Given the description of an element on the screen output the (x, y) to click on. 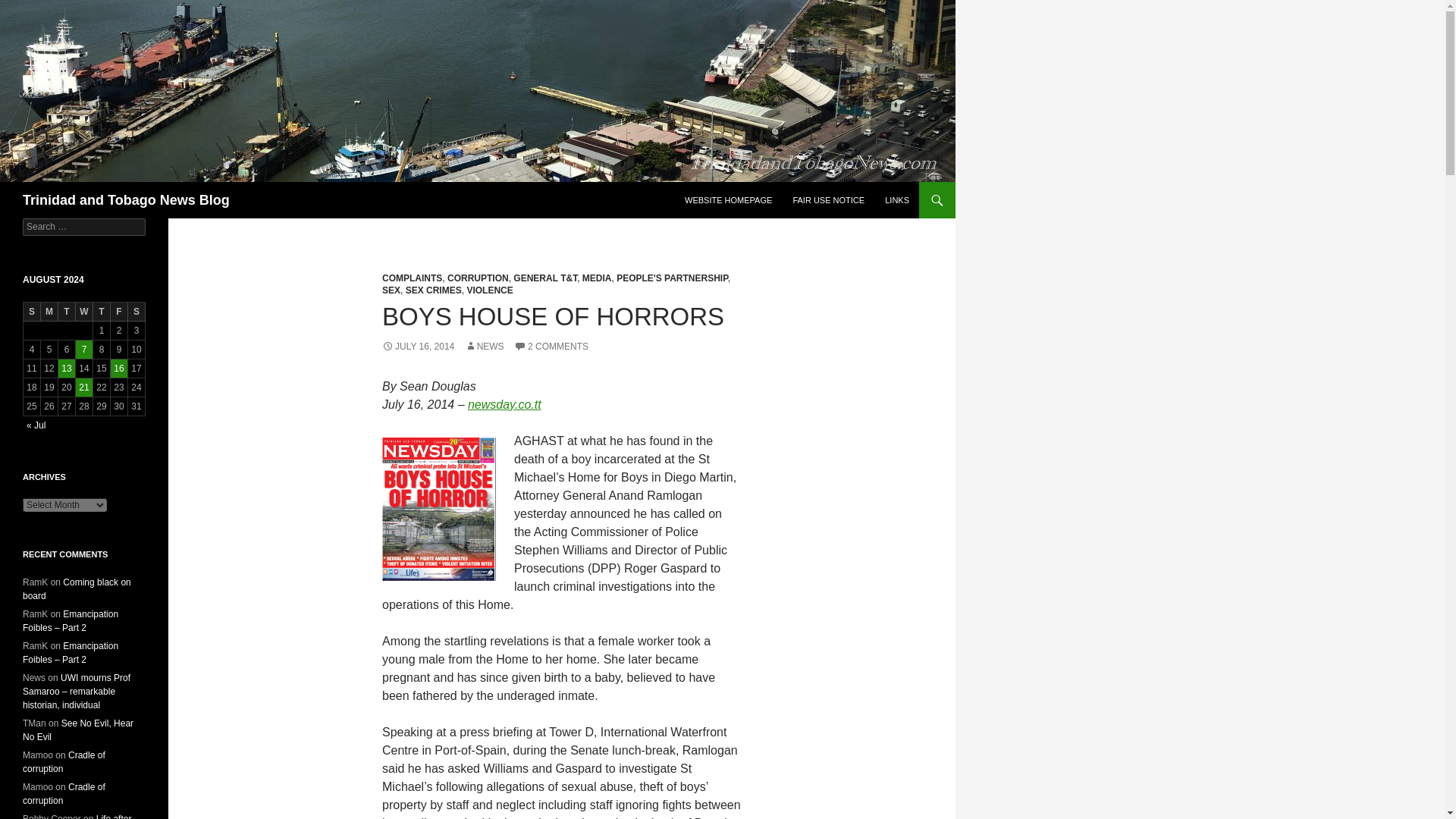
WEBSITE HOMEPAGE (727, 199)
21 (84, 387)
Wednesday (84, 311)
LINKS (897, 199)
SEX CRIMES (433, 290)
VIOLENCE (488, 290)
2 COMMENTS (550, 346)
Trinidad and Tobago News Blog (126, 199)
Thursday (101, 311)
13 (66, 368)
